Given the description of an element on the screen output the (x, y) to click on. 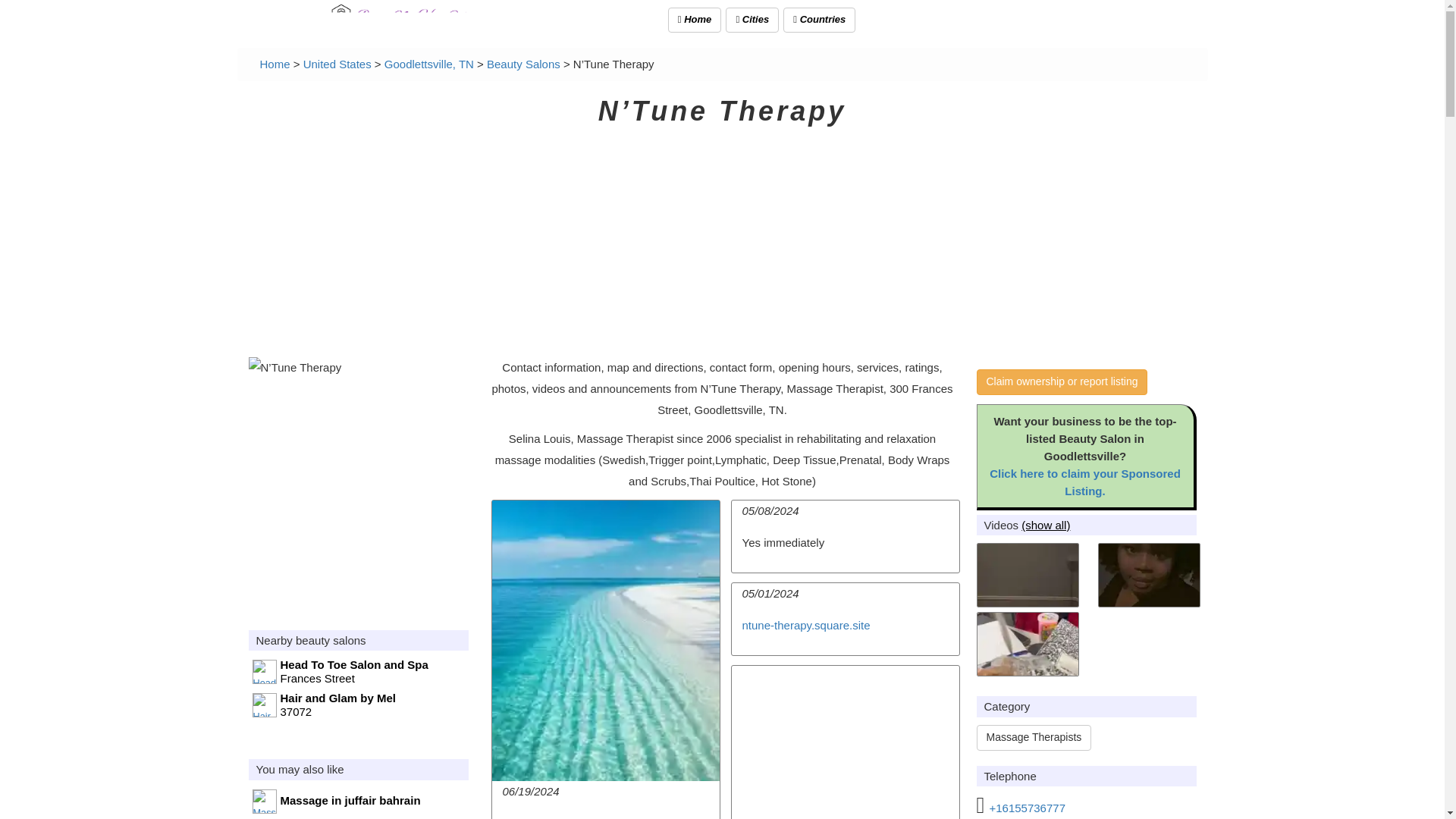
Home (274, 63)
Beauty Salons (523, 63)
Click here to claim your Sponsored Listing. (358, 672)
Countries (1085, 481)
Goodlettsville, TN (819, 19)
ntune-therapy.square.site (429, 63)
Home (805, 625)
Massage in juffair bahrain (274, 63)
Massage Therapists (358, 803)
United States (358, 705)
Cities (1034, 737)
Claim ownership or report listing (336, 63)
Home (751, 19)
